Given the description of an element on the screen output the (x, y) to click on. 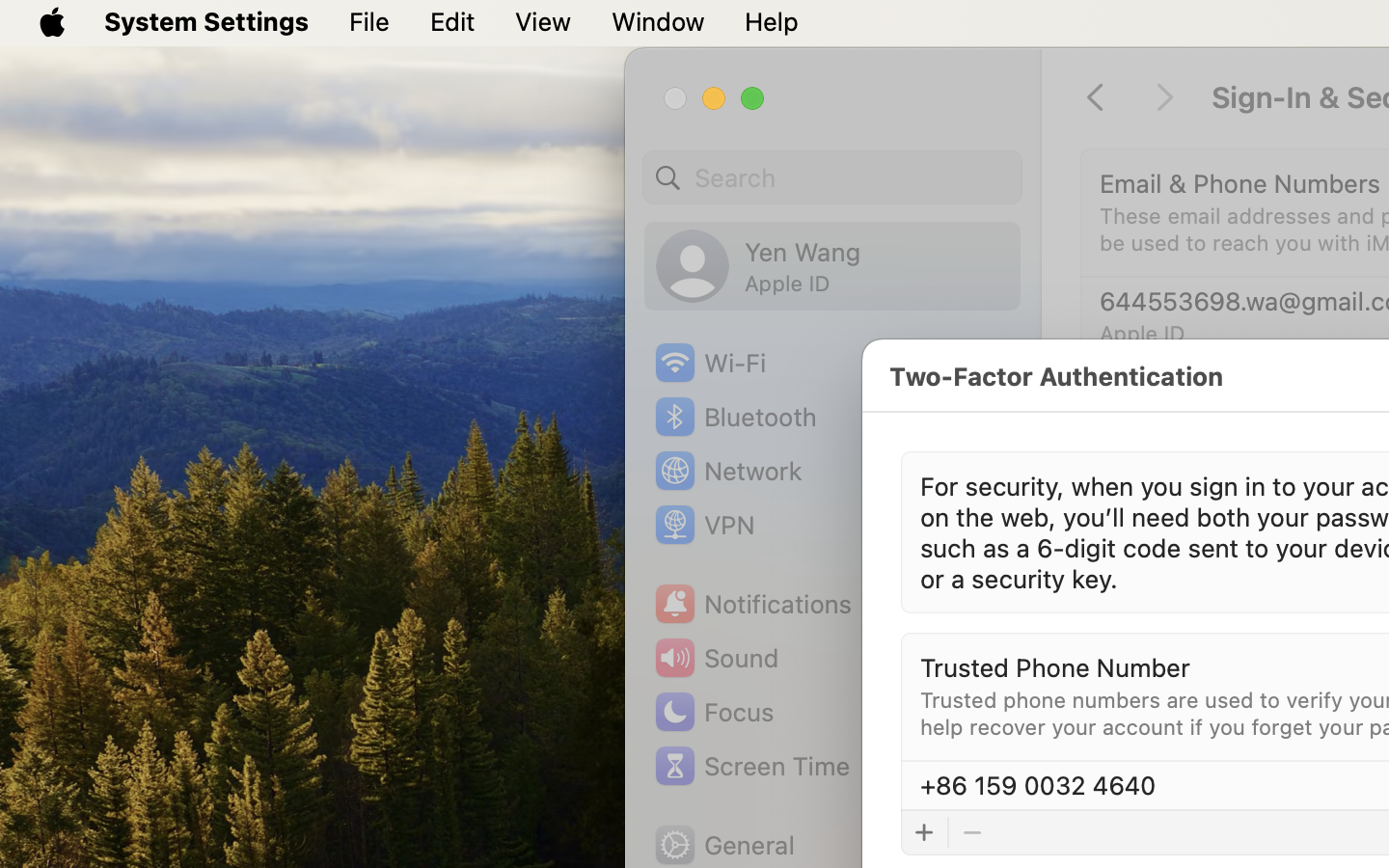
Screen Time Element type: AXStaticText (751, 765)
Sound Element type: AXStaticText (715, 657)
Wi‑Fi Element type: AXStaticText (708, 362)
VPN Element type: AXStaticText (703, 524)
+86 159 0032 4640 Element type: AXStaticText (1216, 381)
